Given the description of an element on the screen output the (x, y) to click on. 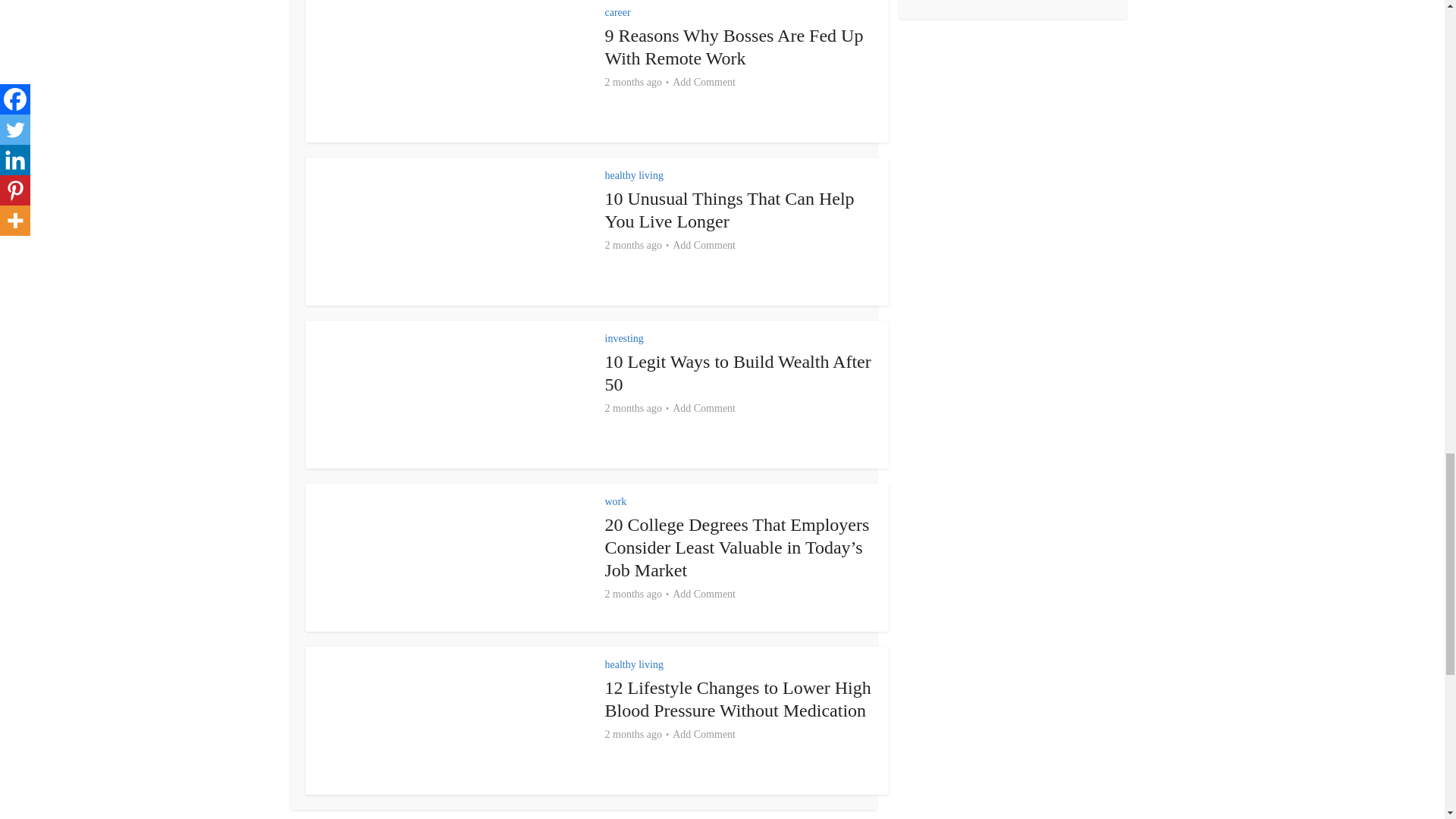
9 Reasons Why Bosses Are Fed Up With Remote Work (734, 46)
Add Comment (703, 82)
career (617, 12)
